Given the description of an element on the screen output the (x, y) to click on. 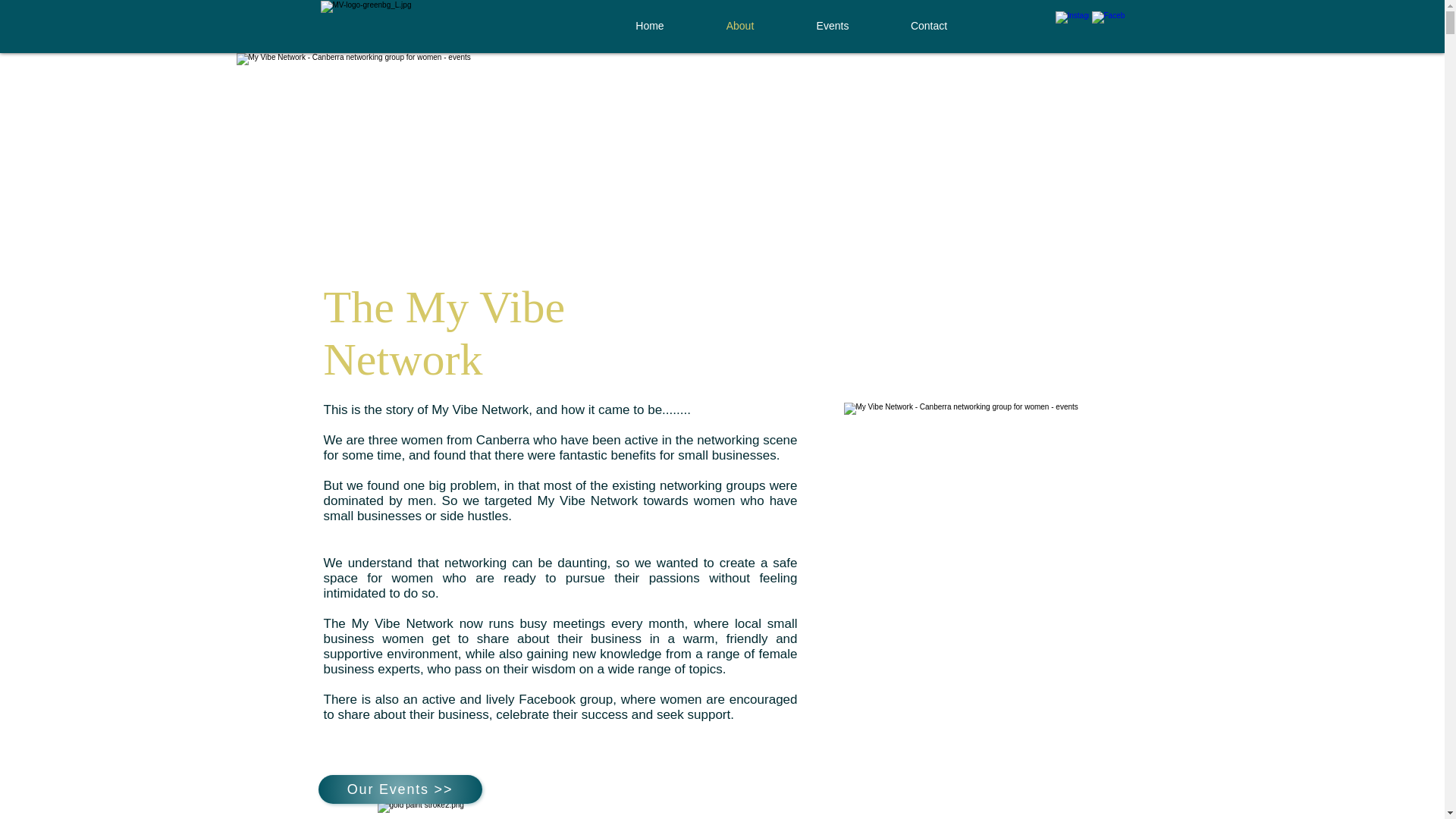
Contact (927, 25)
Home (650, 25)
Events (833, 25)
About (739, 25)
